Given the description of an element on the screen output the (x, y) to click on. 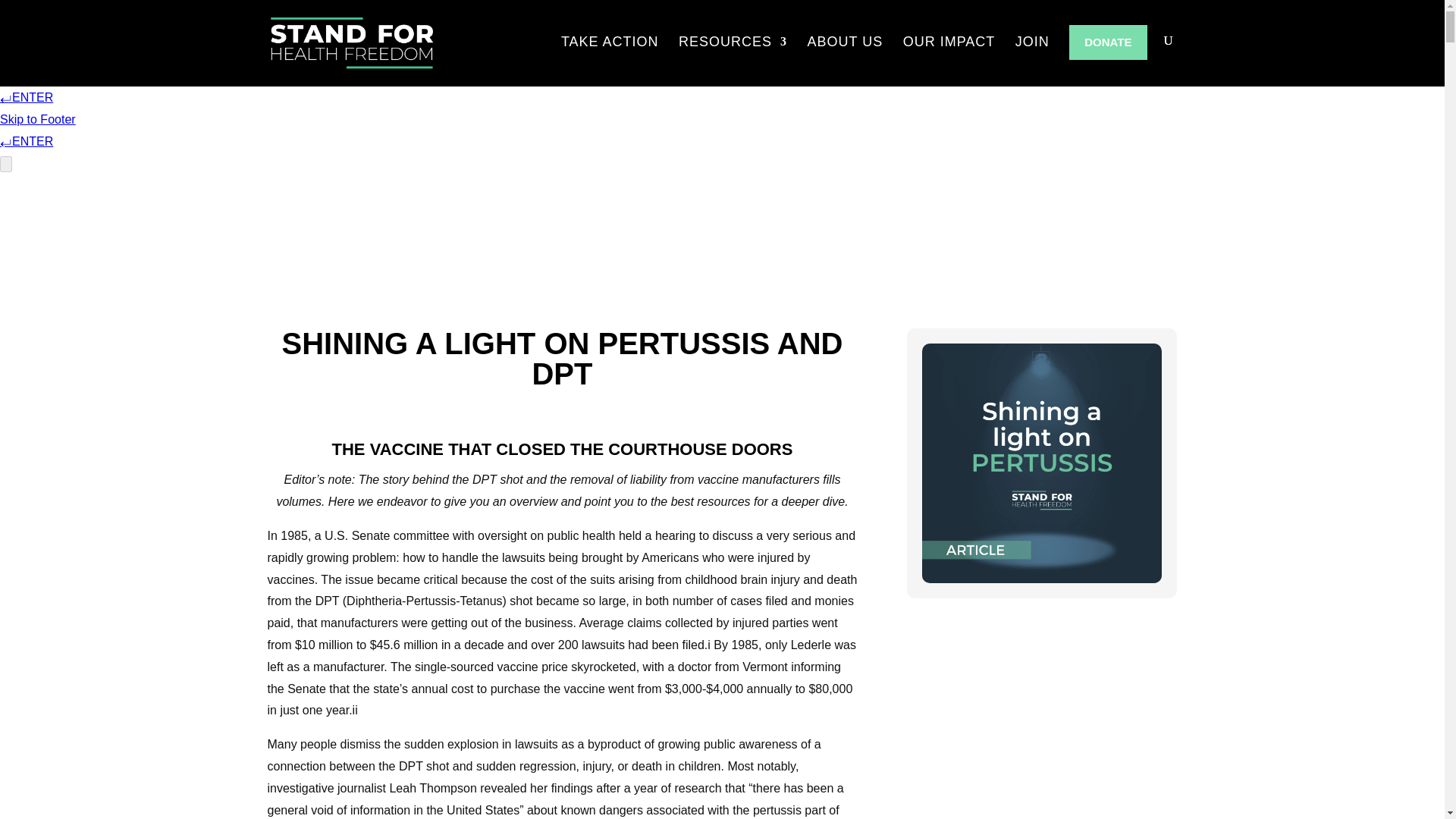
OUR IMPACT (948, 53)
DONATE (1107, 42)
ABOUT US (845, 53)
TAKE ACTION (609, 53)
RESOURCES (732, 53)
